Given the description of an element on the screen output the (x, y) to click on. 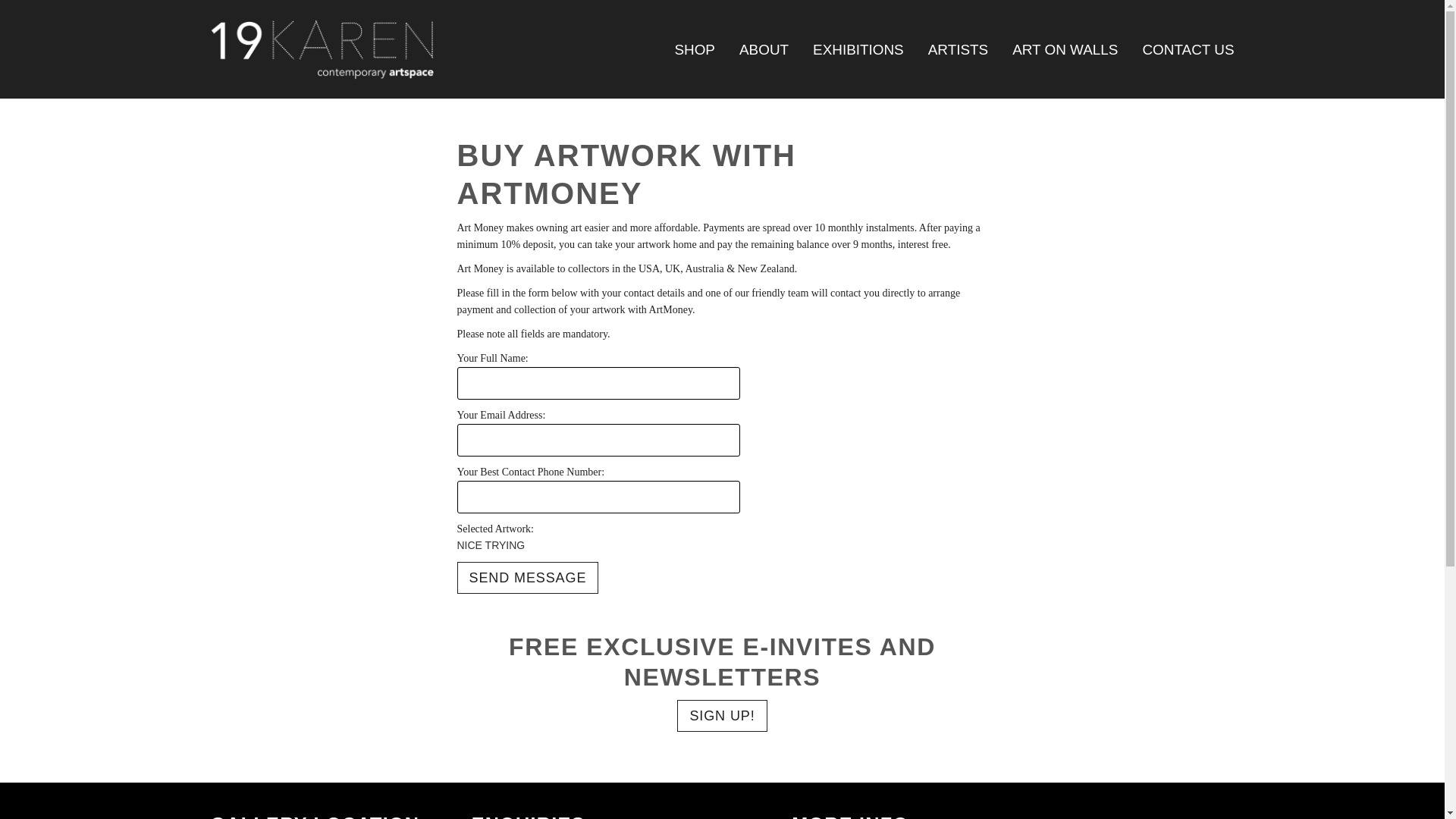
NICE TRYING (523, 545)
ARTISTS (958, 49)
SEND MESSAGE (527, 577)
ABOUT (764, 49)
EXHIBITIONS (858, 49)
ART ON WALLS (1064, 49)
SEND MESSAGE (527, 577)
SHOP (694, 49)
CONTACT US (1187, 49)
